Given the description of an element on the screen output the (x, y) to click on. 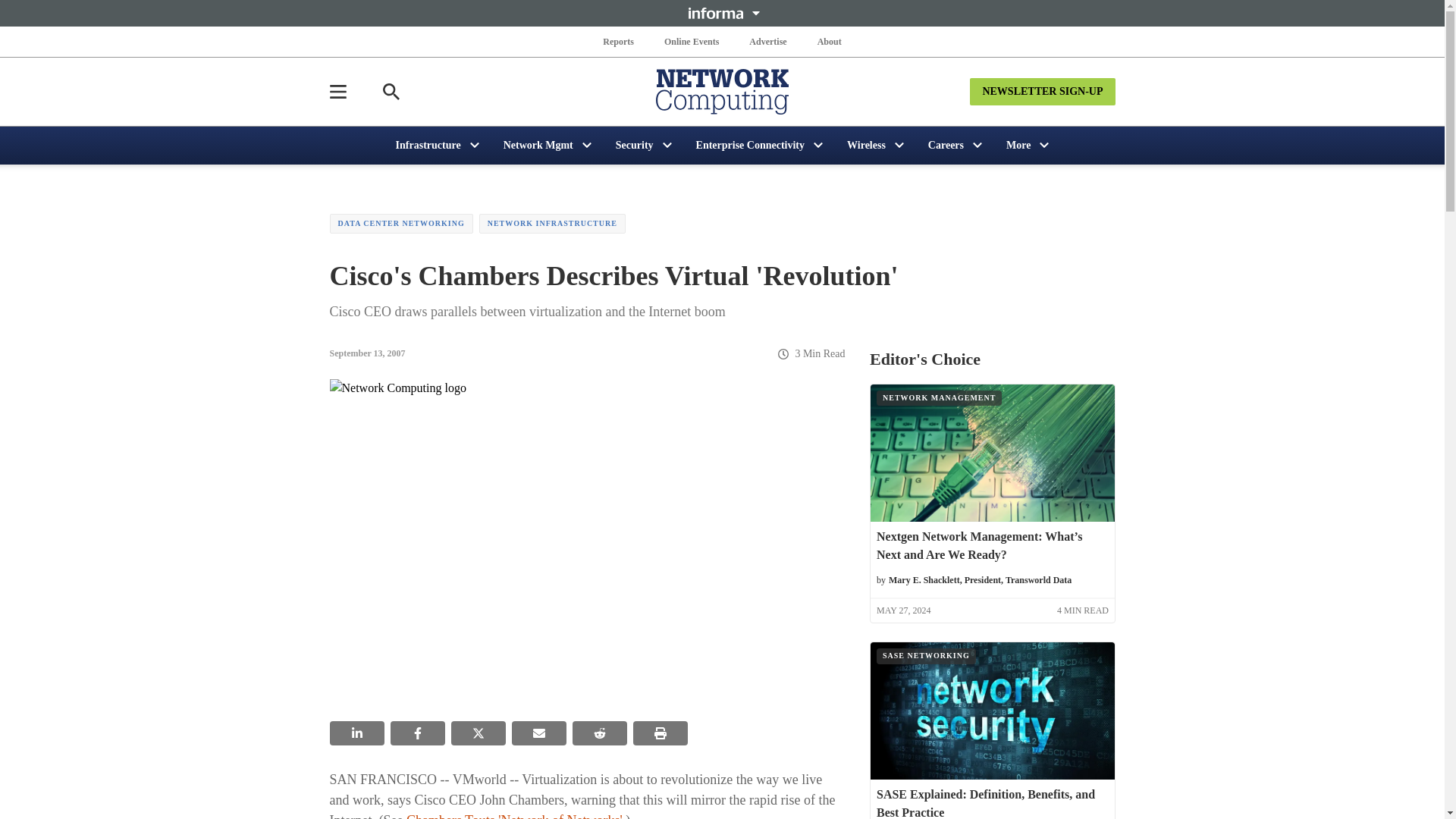
About (828, 41)
Online Events (691, 41)
NEWSLETTER SIGN-UP (1042, 90)
Reports (618, 41)
Network Computing Logo (722, 91)
Advertise (767, 41)
